Given the description of an element on the screen output the (x, y) to click on. 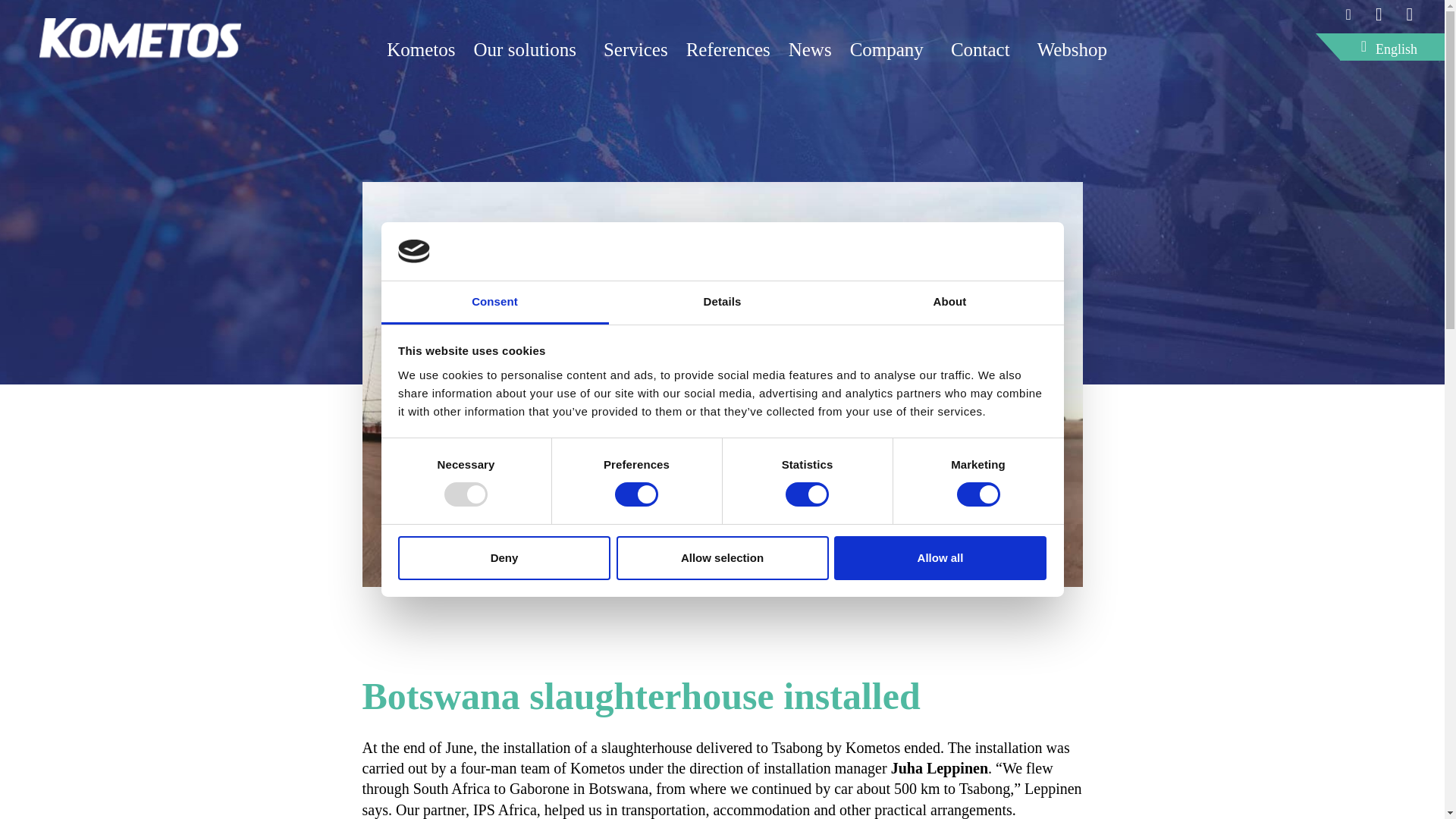
Kometos sosiaalisen median linkki (1409, 14)
About (948, 302)
Consent (494, 302)
Kometos sosiaalisen median linkki (1378, 14)
Details (721, 302)
Kometos sosiaalisen median linkki (1347, 14)
